Given the description of an element on the screen output the (x, y) to click on. 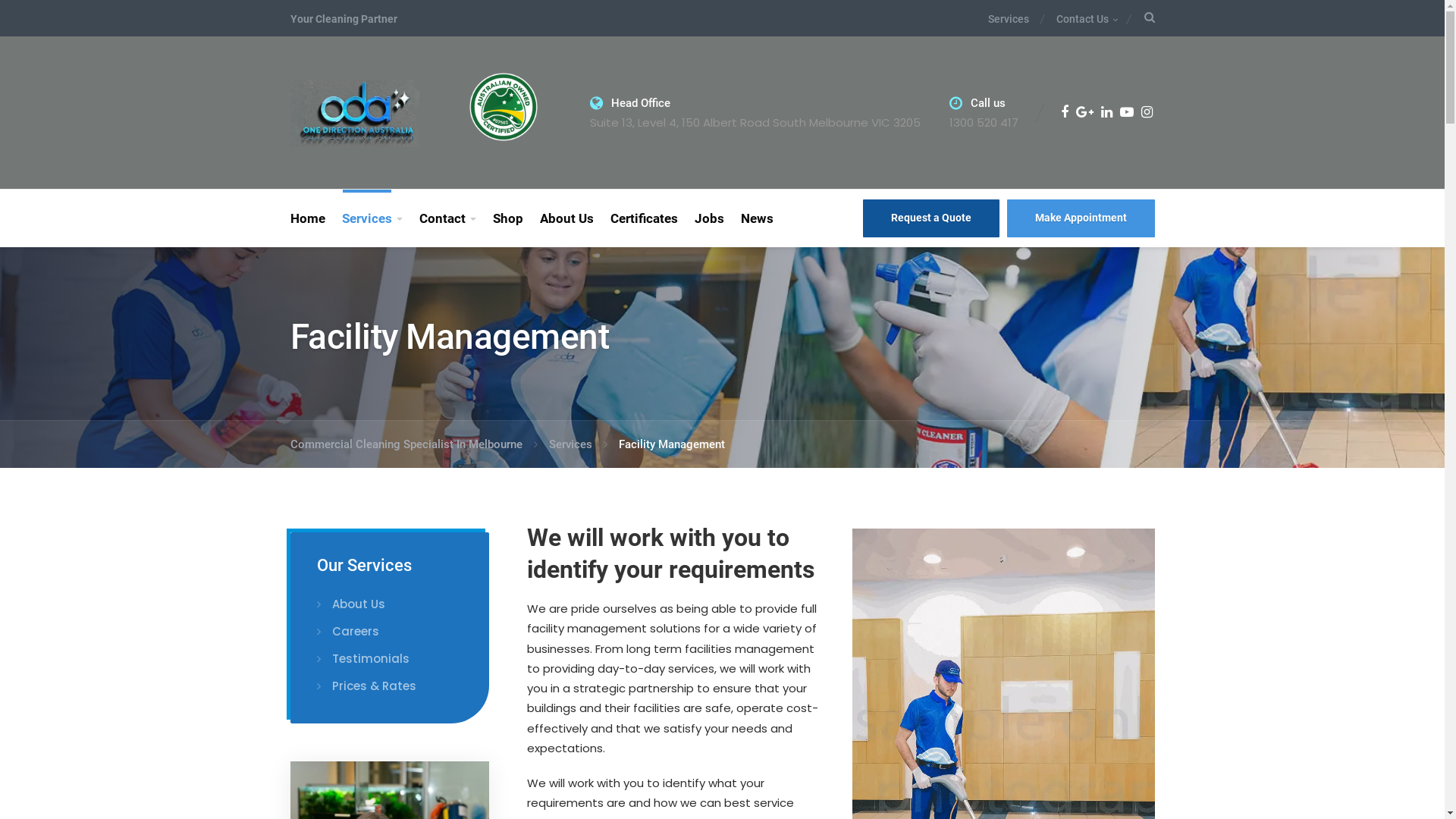
Jobs Element type: text (708, 218)
Home Element type: text (310, 218)
Shop Element type: text (506, 218)
Services Element type: text (372, 218)
Contact Us Element type: text (1077, 19)
Commercial Cleaning Specialist In Melbourne Element type: hover (353, 111)
Services Element type: text (1014, 19)
News Element type: text (756, 218)
About Us Element type: text (565, 218)
Search Element type: text (1010, 409)
Services Element type: text (578, 444)
About Us Element type: text (350, 604)
Commercial Cleaning Specialist In Melbourne Element type: text (412, 444)
Request a Quote Element type: text (930, 218)
Contact Element type: text (447, 218)
Prices & Rates Element type: text (366, 686)
Testimonials Element type: text (362, 658)
Make Appointment Element type: text (1080, 218)
Certificates Element type: text (644, 218)
Careers Element type: text (347, 631)
